Given the description of an element on the screen output the (x, y) to click on. 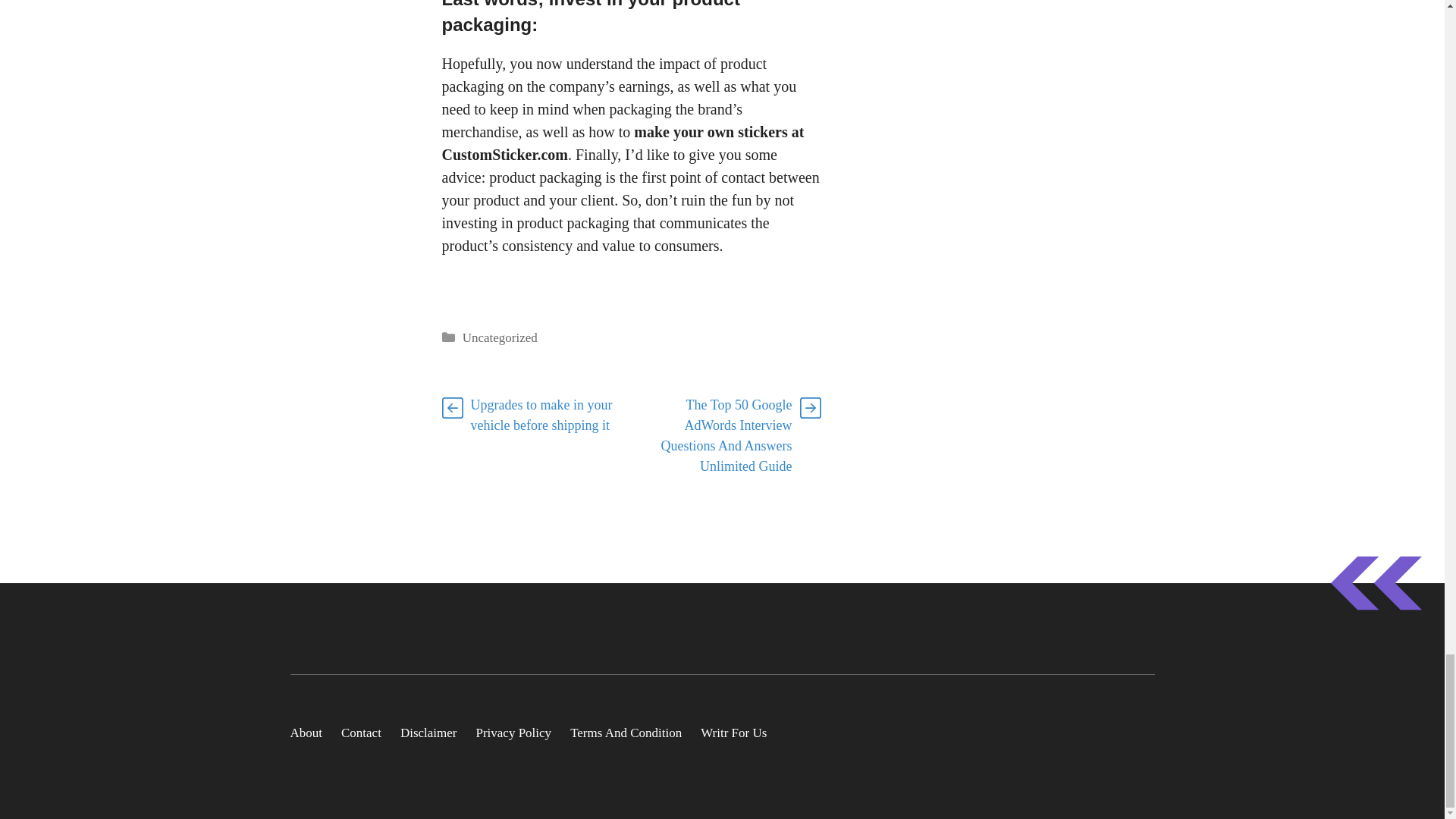
Uncategorized (500, 337)
Upgrades to make in your vehicle before shipping it (540, 415)
